Given the description of an element on the screen output the (x, y) to click on. 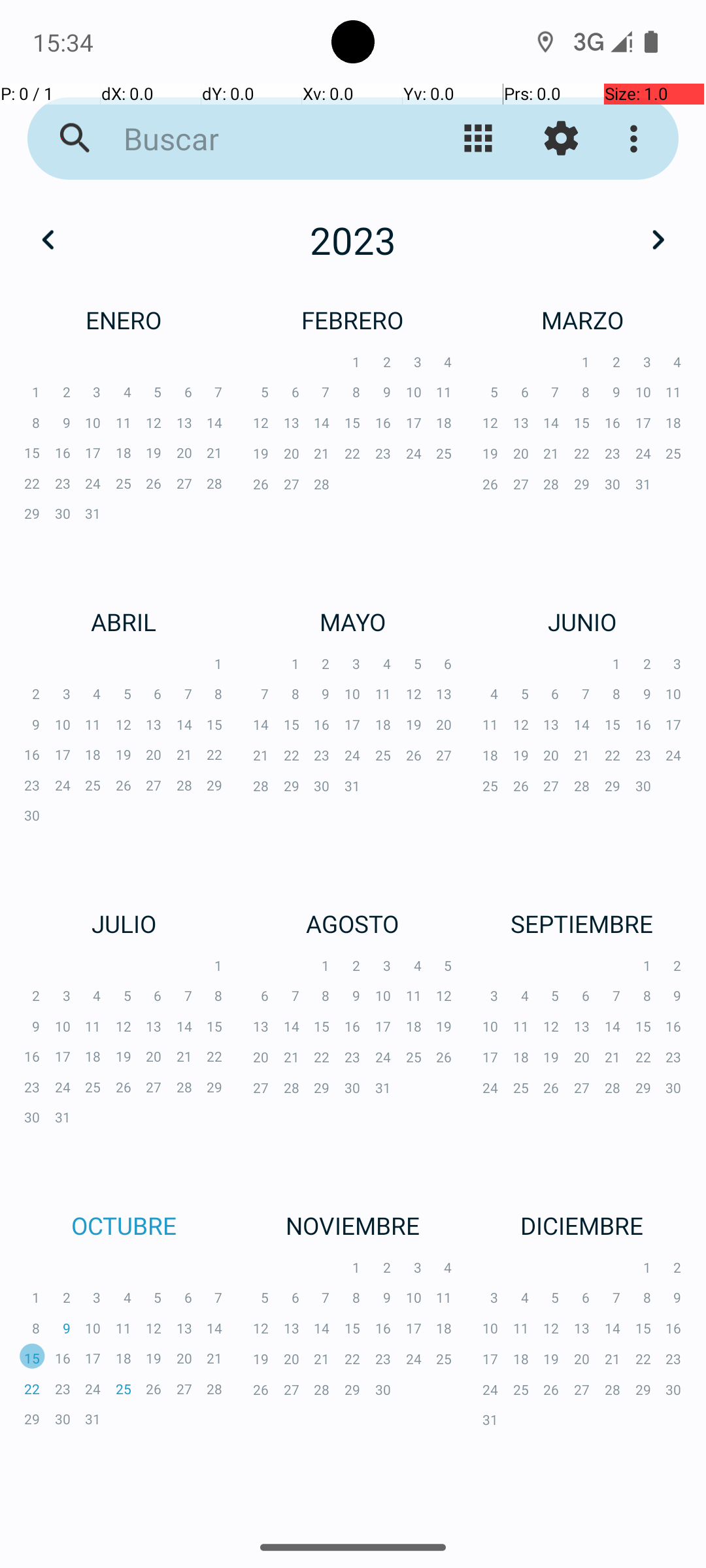
Buscar Element type: android.widget.EditText (252, 138)
Cambiar vista Element type: android.widget.Button (477, 138)
Ajustes Element type: android.widget.Button (560, 138)
Más opciones Element type: android.widget.ImageView (636, 138)
ENERO Element type: android.widget.TextView (123, 319)
FEBRERO Element type: android.widget.TextView (352, 319)
MARZO Element type: android.widget.TextView (582, 319)
ABRIL Element type: android.widget.TextView (123, 621)
MAYO Element type: android.widget.TextView (352, 621)
JUNIO Element type: android.widget.TextView (582, 621)
JULIO Element type: android.widget.TextView (123, 923)
AGOSTO Element type: android.widget.TextView (352, 923)
SEPTIEMBRE Element type: android.widget.TextView (582, 923)
OCTUBRE Element type: android.widget.TextView (123, 1224)
NOVIEMBRE Element type: android.widget.TextView (352, 1224)
DICIEMBRE Element type: android.widget.TextView (582, 1224)
